Given the description of an element on the screen output the (x, y) to click on. 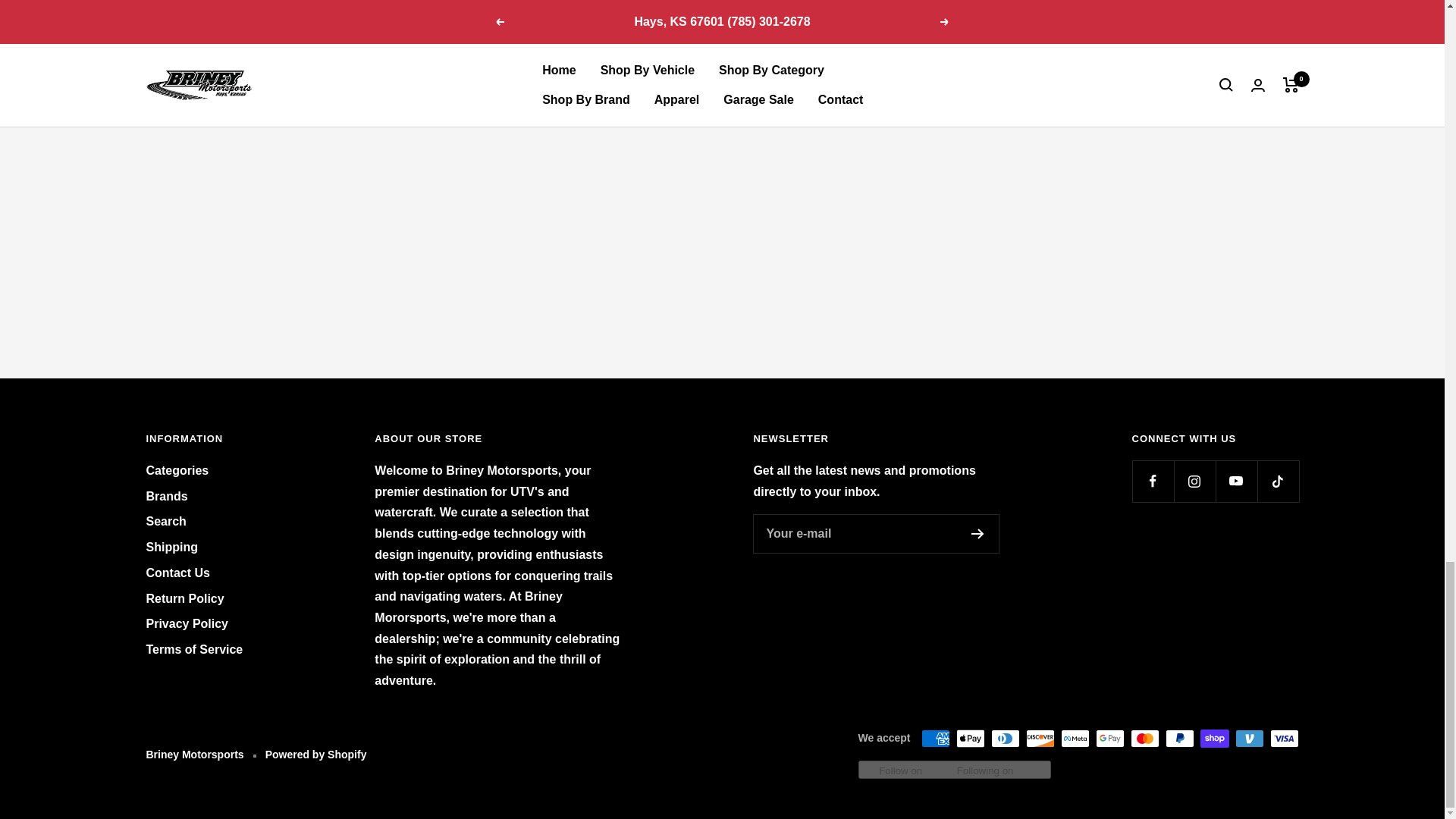
Register (977, 533)
